Given the description of an element on the screen output the (x, y) to click on. 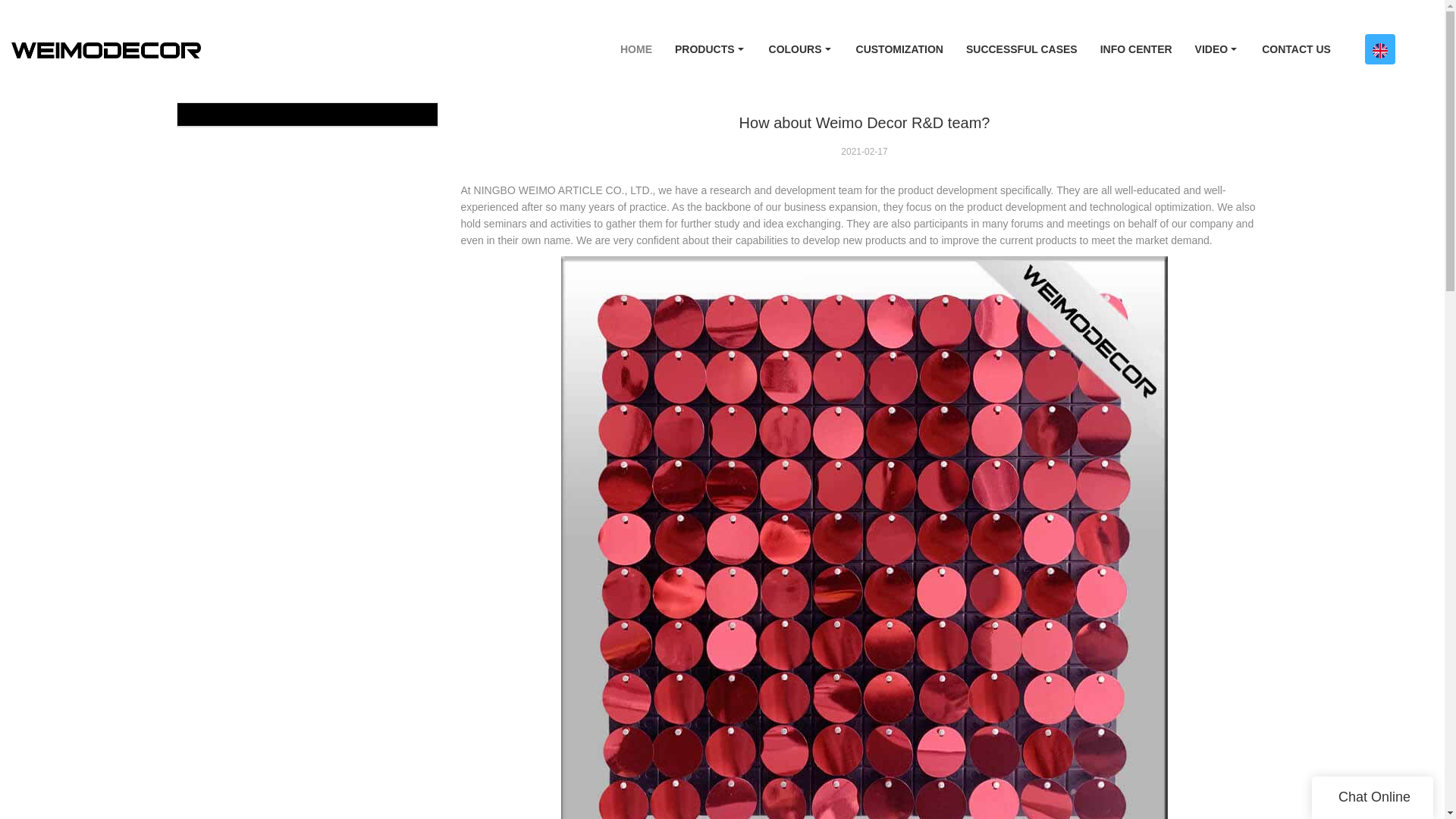
INFO CENTER (1136, 49)
SUCCESSFUL CASES (1022, 49)
CUSTOMIZATION (899, 49)
CONTACT US (1296, 49)
PRODUCTS (710, 49)
VIDEO (1216, 49)
COLOURS (800, 49)
